Given the description of an element on the screen output the (x, y) to click on. 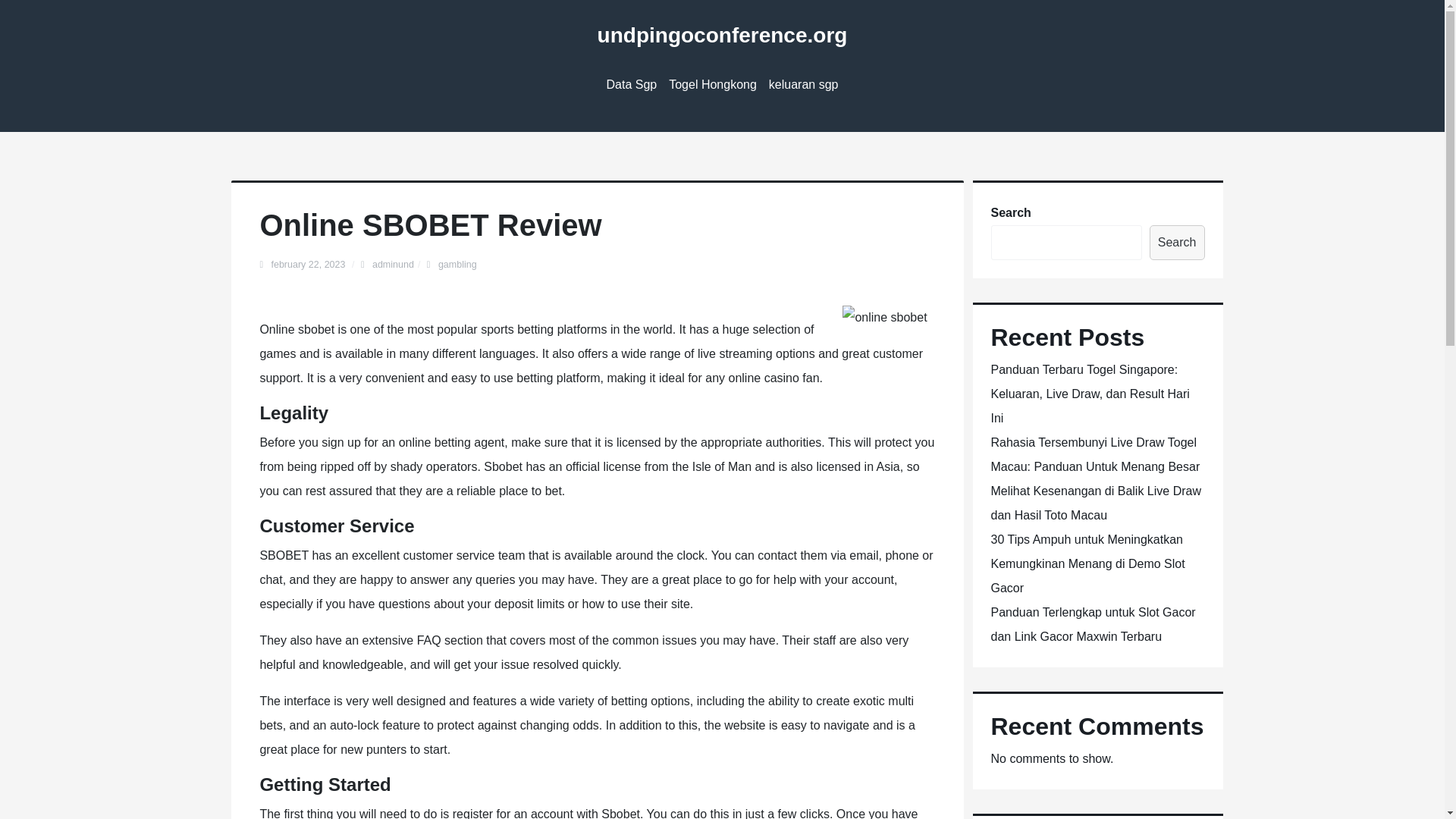
Data Sgp (631, 84)
Togel Hongkong (712, 84)
Togel Hongkong (712, 84)
february 22, 2023 (308, 264)
Search (1177, 242)
Data Sgp (631, 84)
keluaran sgp (803, 84)
undpingoconference.org (721, 34)
adminund (392, 264)
gambling (457, 264)
Melihat Kesenangan di Balik Live Draw dan Hasil Toto Macau (1094, 502)
